Given the description of an element on the screen output the (x, y) to click on. 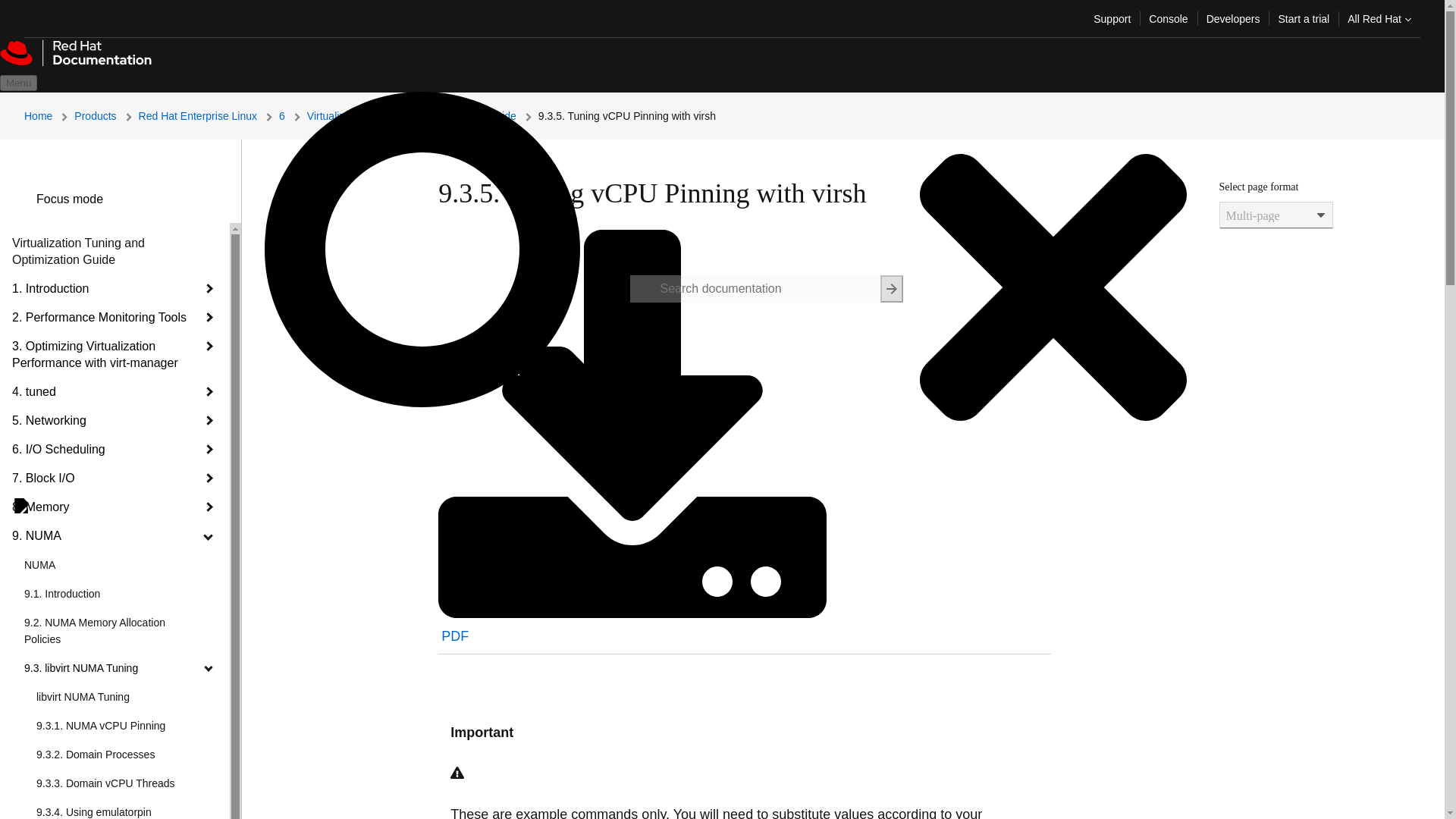
Developers (1232, 18)
Start a trial (1303, 18)
Support (1112, 18)
All Red Hat (1379, 18)
Console (1168, 18)
toggle focus mode (23, 199)
